Given the description of an element on the screen output the (x, y) to click on. 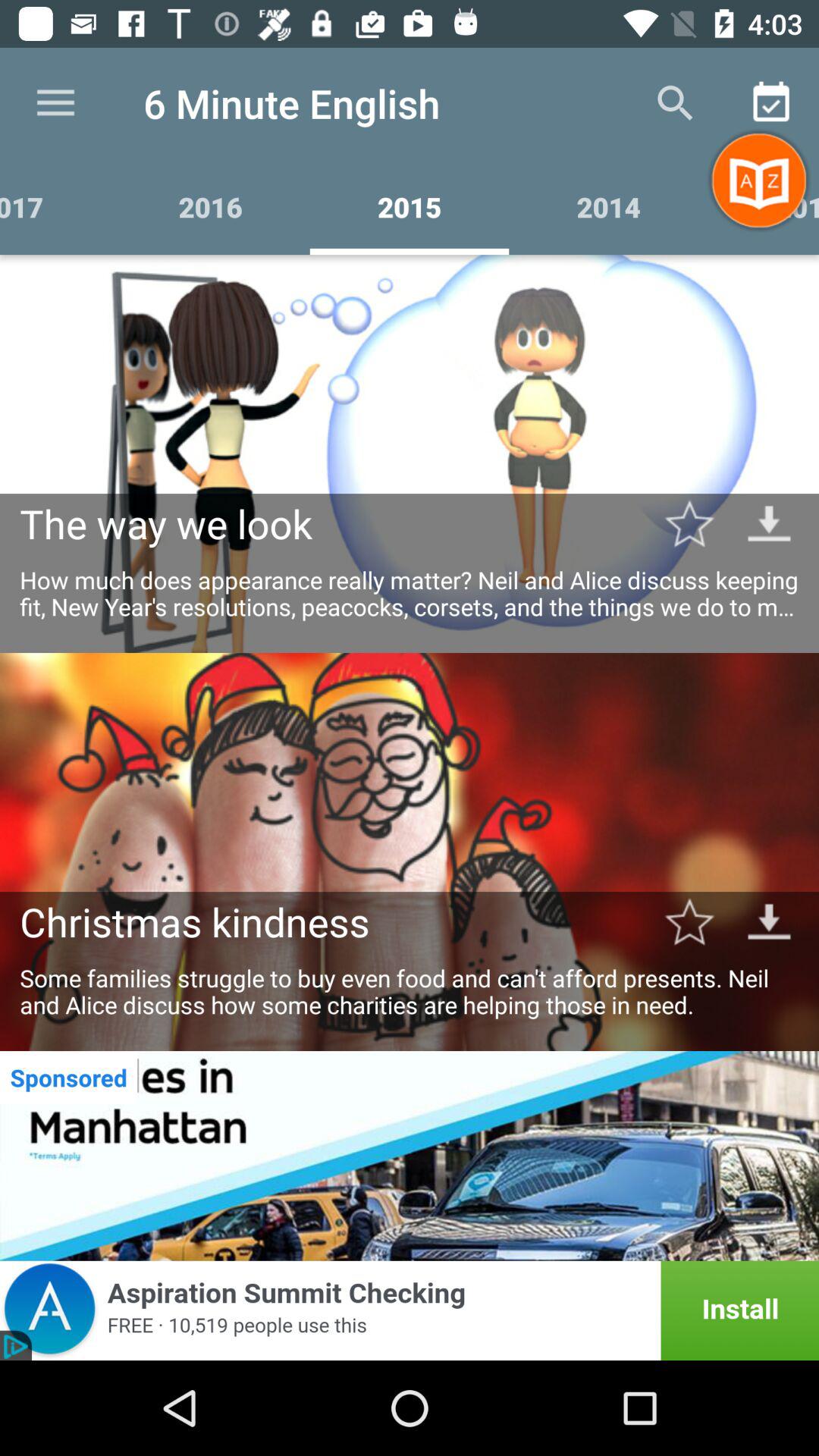
launch the icon above the 2013 (771, 103)
